Given the description of an element on the screen output the (x, y) to click on. 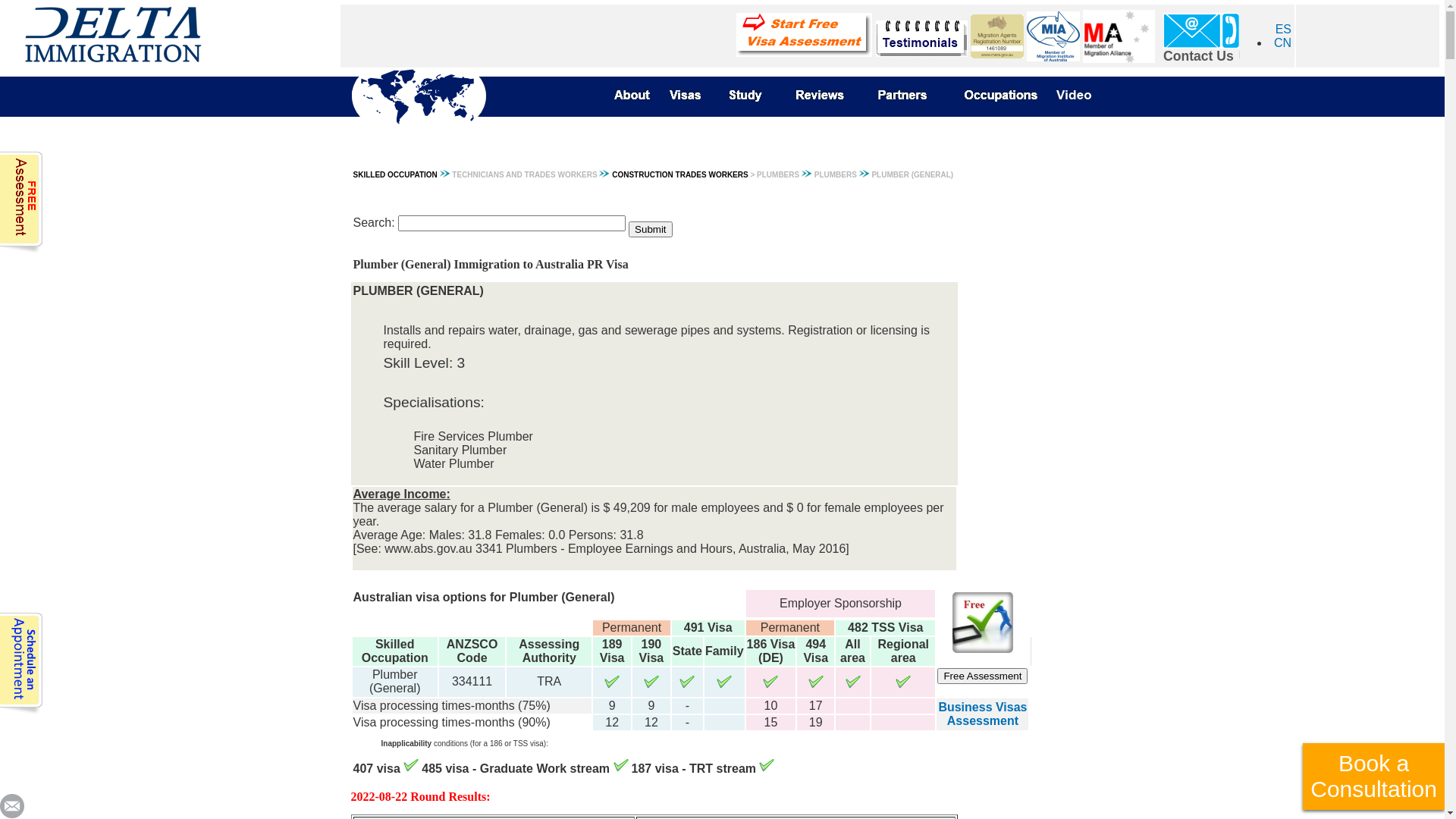
Plumber (General) Immigration to Australia PR Visa Element type: text (524, 264)
SKILLED OCCUPATION Element type: text (395, 174)
Home Element type: text (437, 92)
Book a
Consultation Element type: text (1373, 767)
ES Element type: text (1283, 28)
CN Element type: text (1282, 42)
CONSTRUCTION TRADES WORKERS Element type: text (679, 174)
Business Visas
Assessment Element type: text (982, 713)
Twitter Tweet Button Element type: hover (53, 774)
Contact Us Element type: text (1201, 49)
Book a
Consultation Element type: text (1373, 776)
